Given the description of an element on the screen output the (x, y) to click on. 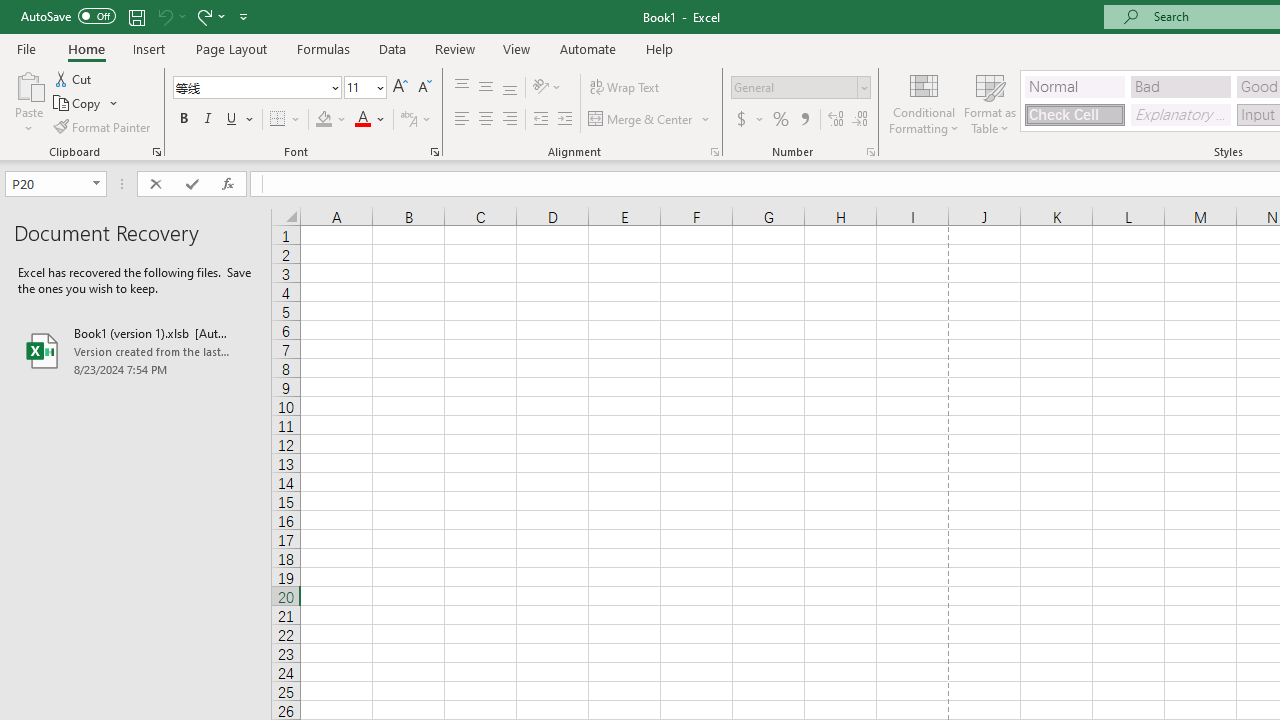
Underline (239, 119)
Format Cell Font (434, 151)
Increase Indent (565, 119)
Bottom Border (278, 119)
Merge & Center (649, 119)
Top Align (461, 87)
Bold (183, 119)
Wrap Text (624, 87)
Font Color (370, 119)
